Given the description of an element on the screen output the (x, y) to click on. 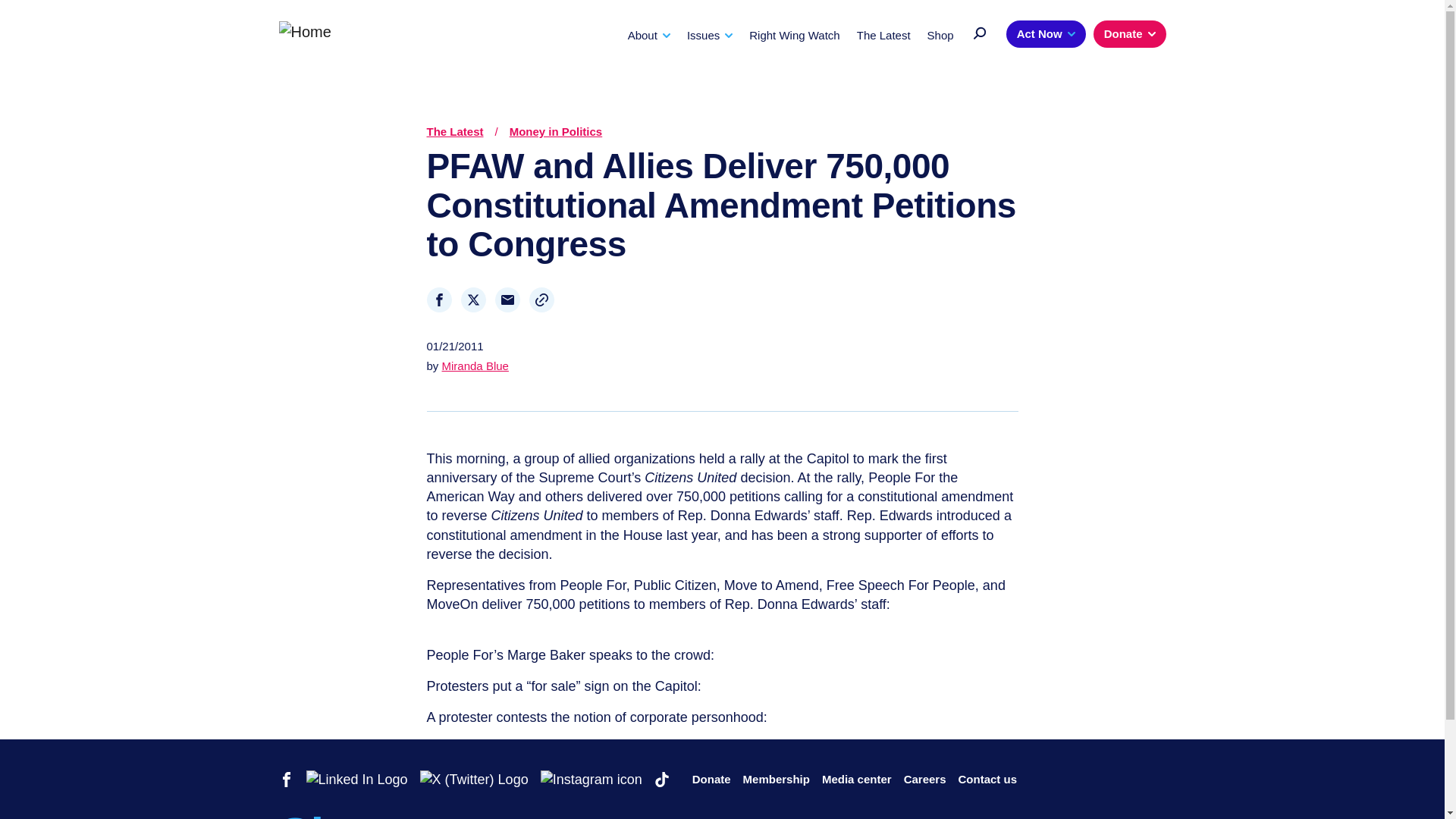
Share to Facebook (438, 299)
Donate (1129, 33)
Share to X (473, 299)
About (648, 35)
Share to Email (507, 299)
Home (305, 30)
Act Now (1046, 33)
Right Wing Watch (794, 35)
Shop (940, 35)
The Latest (884, 35)
